Given the description of an element on the screen output the (x, y) to click on. 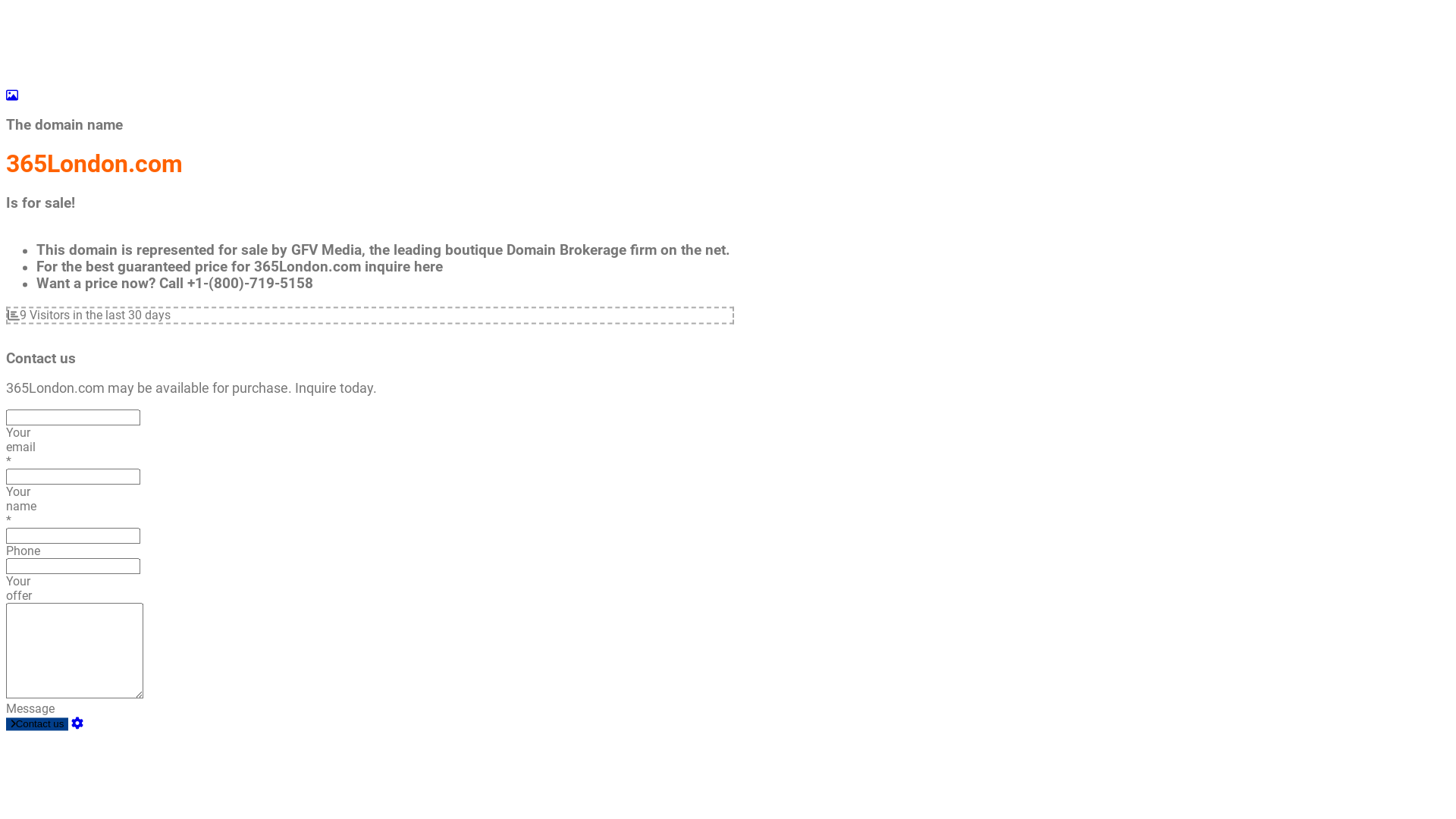
Contact us Element type: text (37, 724)
